Given the description of an element on the screen output the (x, y) to click on. 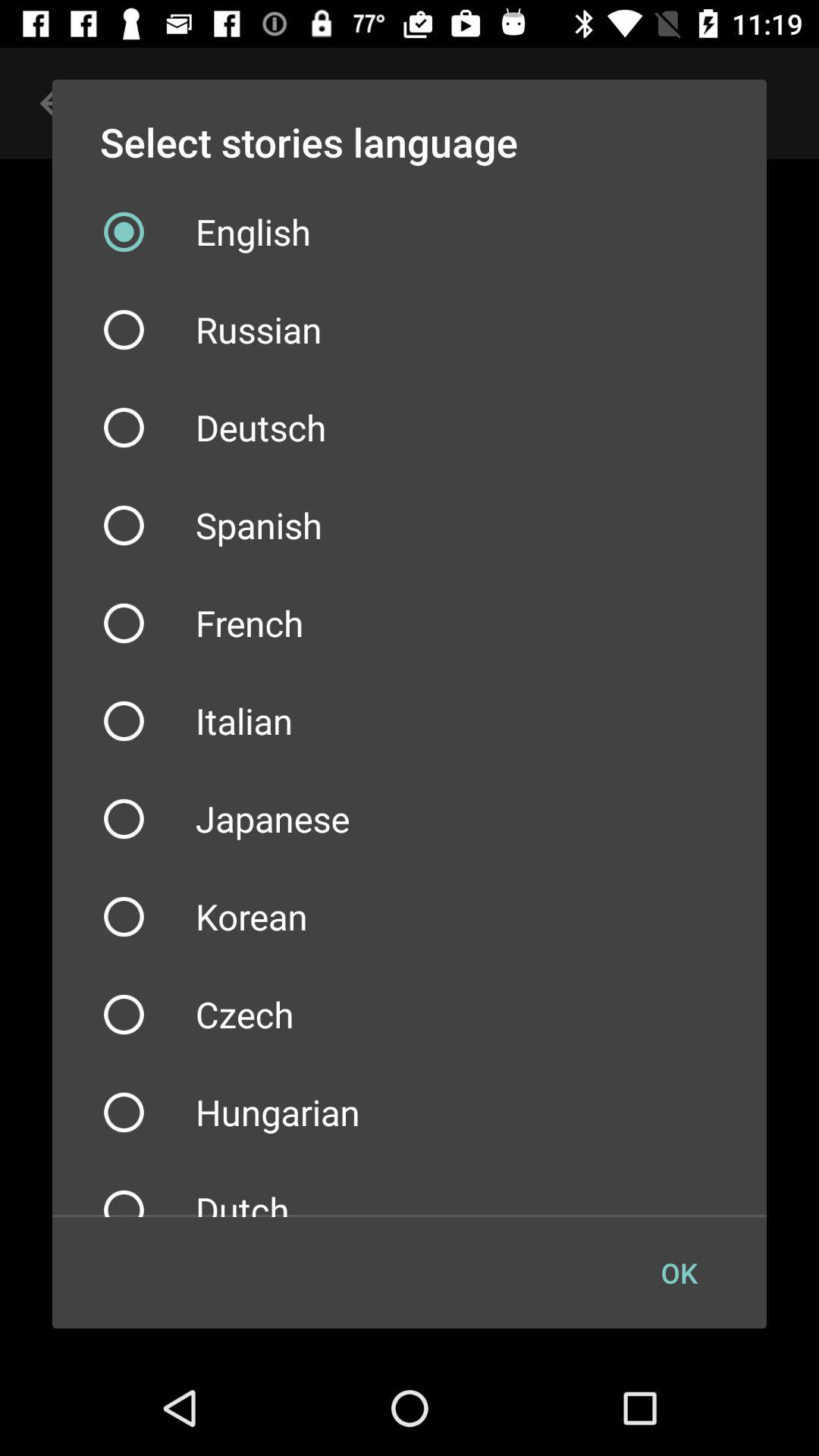
turn off ok icon (678, 1272)
